Given the description of an element on the screen output the (x, y) to click on. 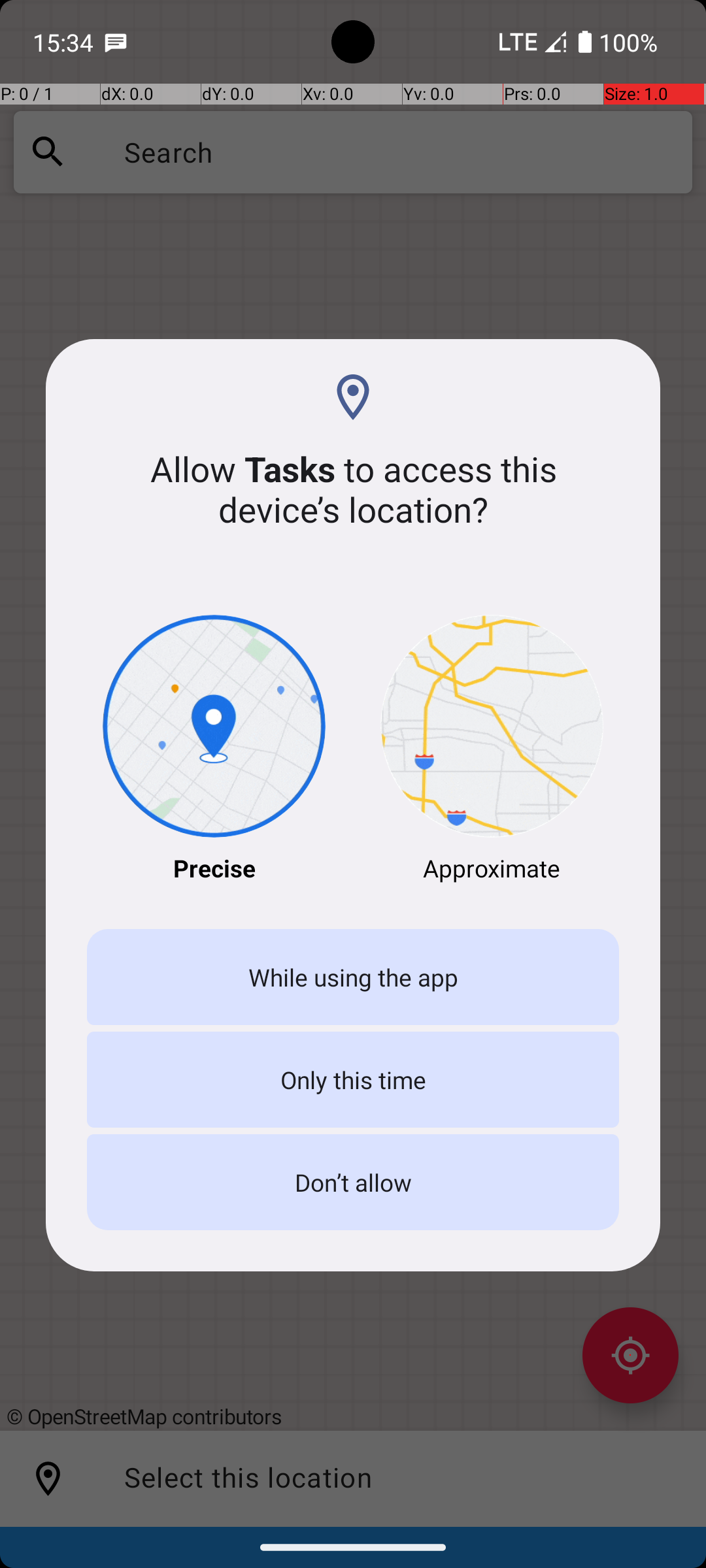
Allow Tasks to access this device’s location? Element type: android.widget.TextView (352, 488)
While using the app Element type: android.widget.Button (352, 977)
Only this time Element type: android.widget.Button (352, 1079)
Precise Element type: android.widget.RadioButton (213, 749)
Approximate Element type: android.widget.RadioButton (491, 749)
